Given the description of an element on the screen output the (x, y) to click on. 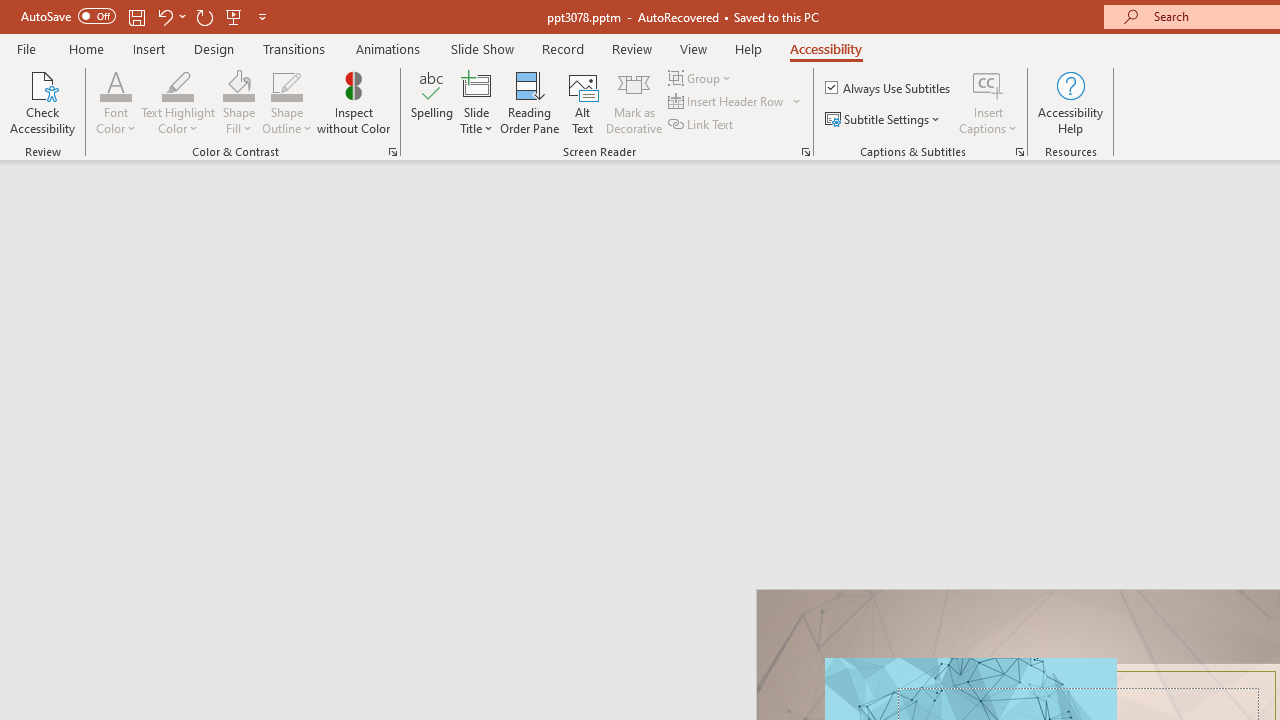
Reading Order Pane (529, 102)
Group (701, 78)
Insert Header Row (735, 101)
Link Text (702, 124)
